Given the description of an element on the screen output the (x, y) to click on. 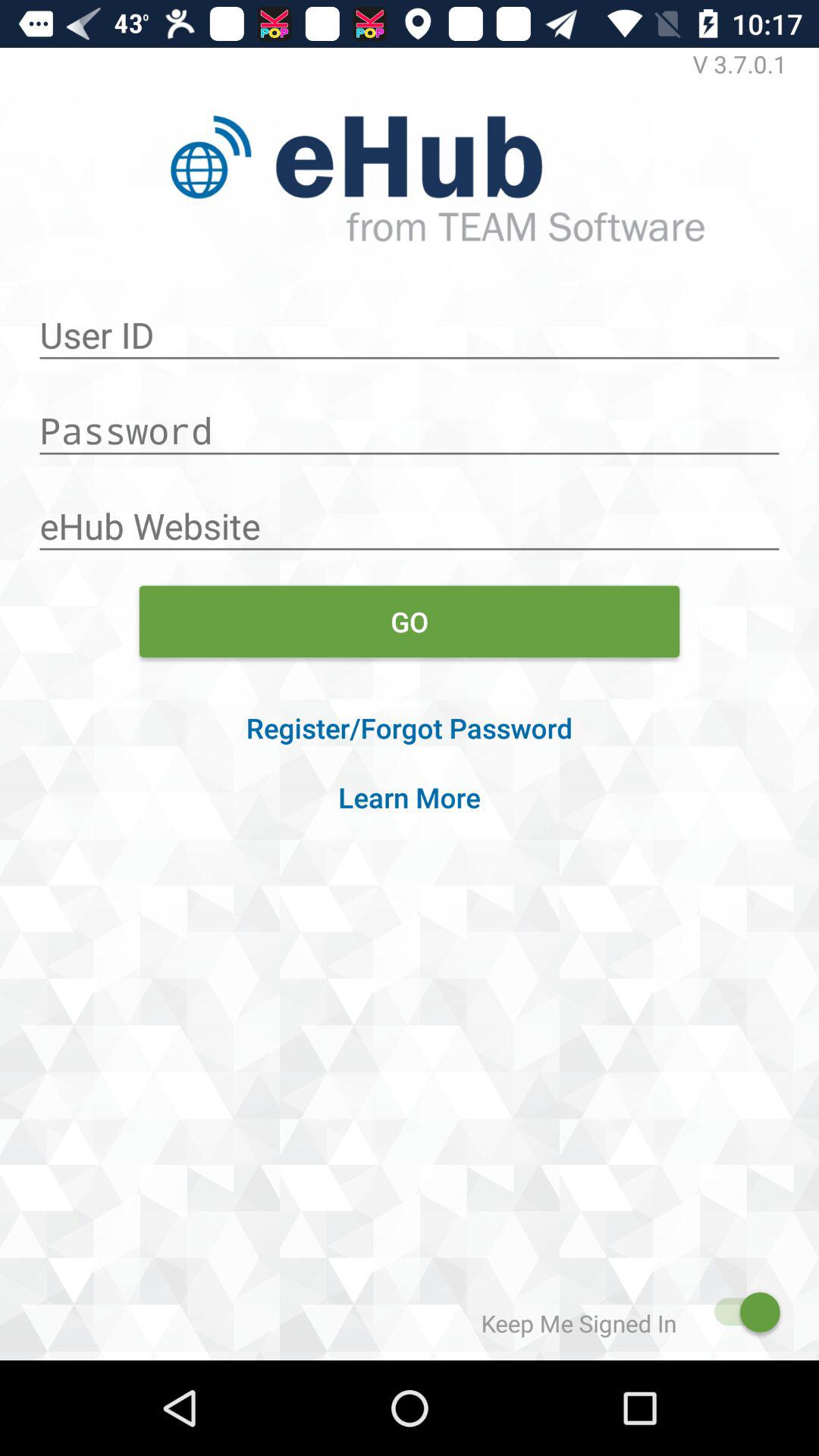
enter ehub website option (409, 517)
